Given the description of an element on the screen output the (x, y) to click on. 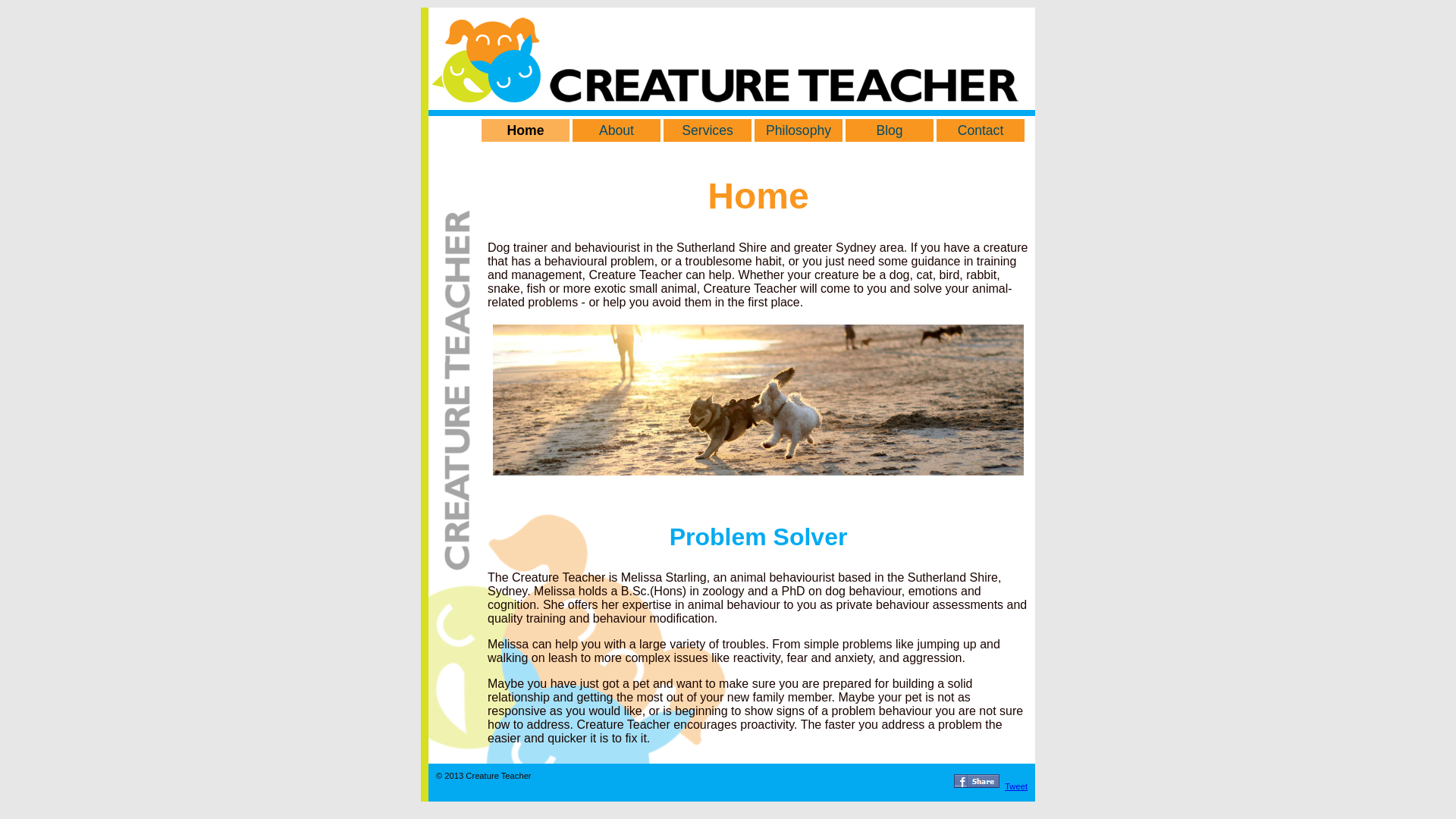
Blog Element type: text (889, 130)
Services Element type: text (707, 130)
Tweet Element type: text (1015, 785)
Home Element type: text (525, 130)
Philosophy Element type: text (798, 130)
Contact Element type: text (980, 130)
About Element type: text (616, 130)
